Given the description of an element on the screen output the (x, y) to click on. 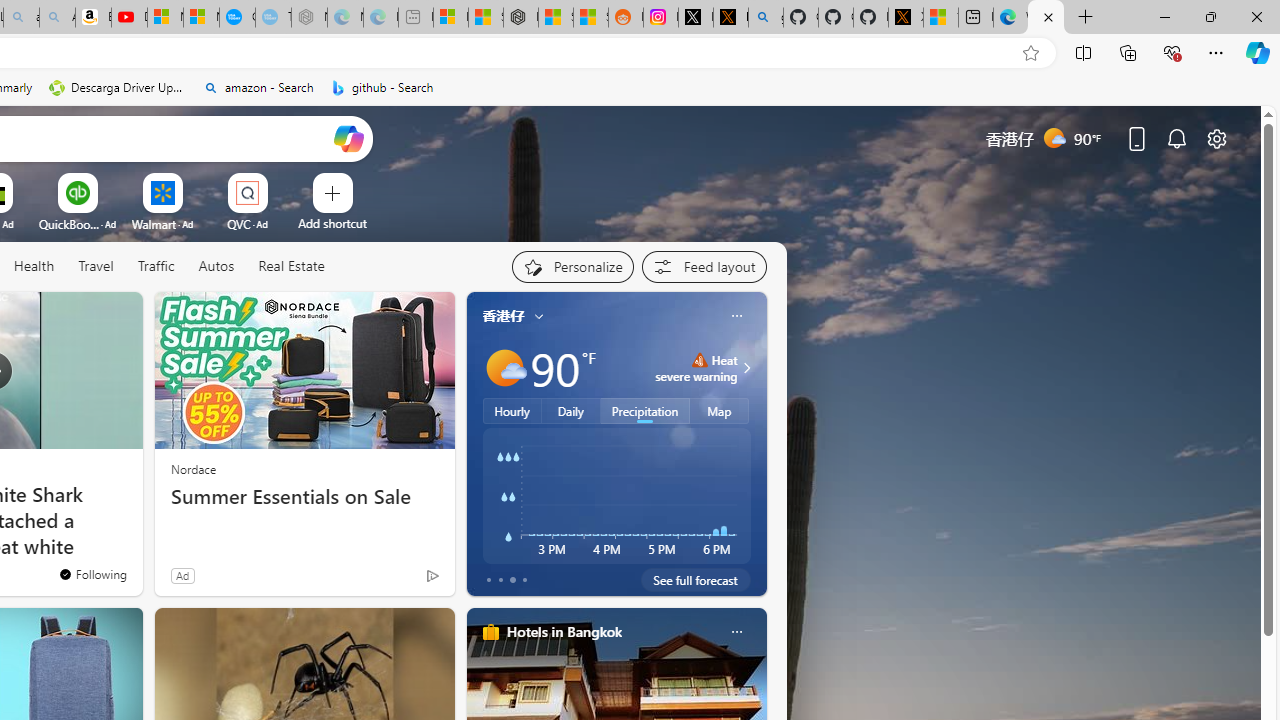
Amazon Echo Dot PNG - Search Images - Sleeping (57, 17)
You're following The Weather Channel (390, 579)
3 PM 4 PM 5 PM 6 PM (616, 495)
Travel (95, 265)
Descarga Driver Updater (118, 88)
Precipitation (645, 411)
Page settings (1216, 138)
Personalize your feed" (571, 266)
